Given the description of an element on the screen output the (x, y) to click on. 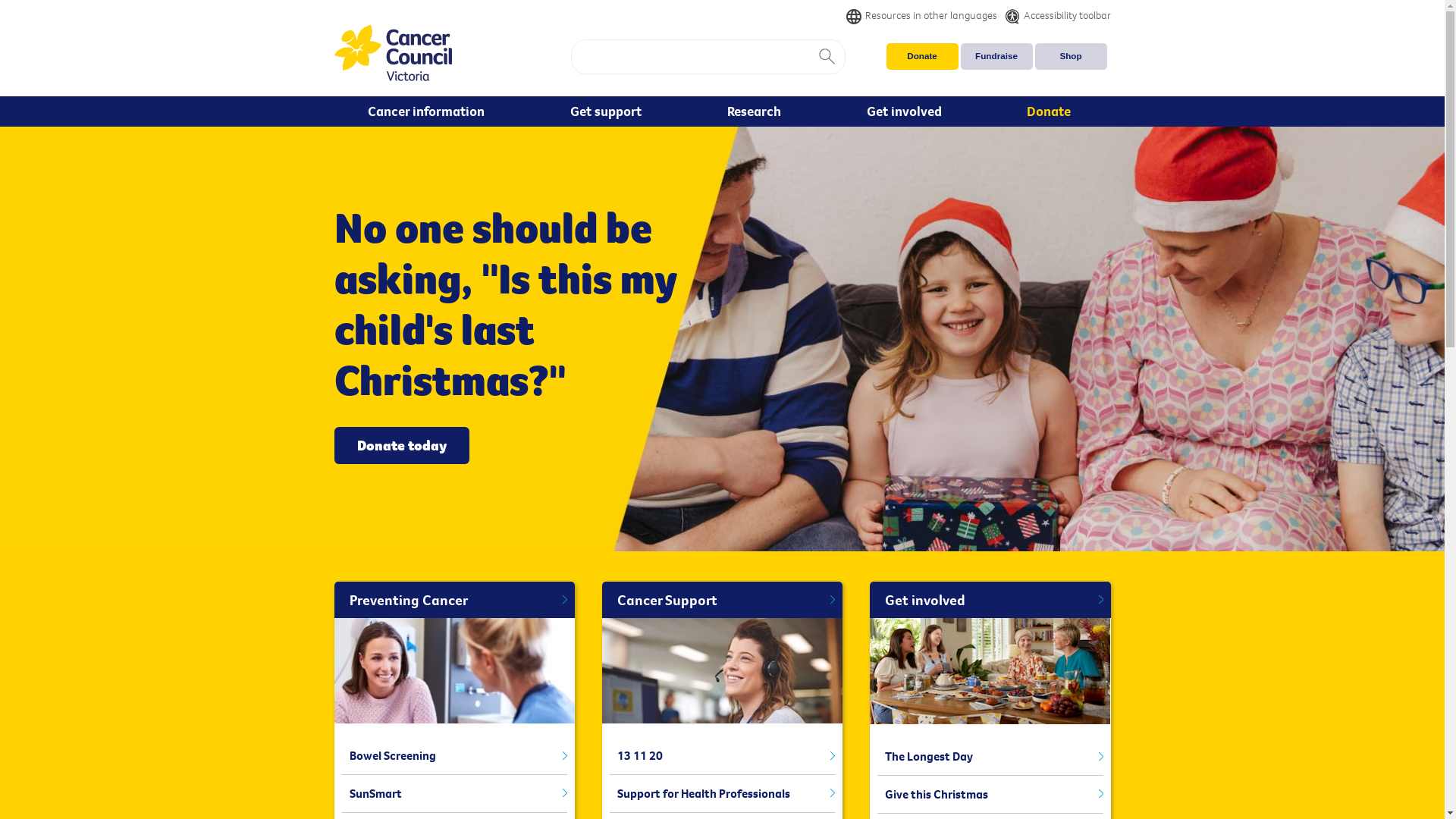
Get involved Element type: text (989, 599)
Accessibility toolbar Element type: text (1053, 14)
Donate today Element type: text (400, 445)
Preventing Cancer Element type: text (453, 599)
Bowel Screening Element type: text (453, 756)
Cancer information Element type: text (428, 111)
SunSmart kids Element type: hover (453, 670)
Resources in other languages Element type: text (921, 14)
Search Element type: text (826, 56)
Donate Element type: text (1052, 111)
Support for Health Professionals Element type: text (721, 793)
SunSmart Element type: text (453, 793)
Shop Element type: text (1070, 56)
Give this Christmas Element type: text (989, 794)
Fundraise Element type: text (996, 56)
13 11 20 Element type: text (721, 756)
Get involved Element type: text (906, 111)
Return to the home page Element type: hover (392, 54)
Research Element type: text (756, 111)
The Longest Day Element type: text (989, 756)
Get support Element type: hover (722, 670)
Donate Element type: text (921, 56)
Get involved Element type: hover (989, 671)
Get support Element type: text (608, 111)
Cancer Support  Element type: text (722, 599)
